Given the description of an element on the screen output the (x, y) to click on. 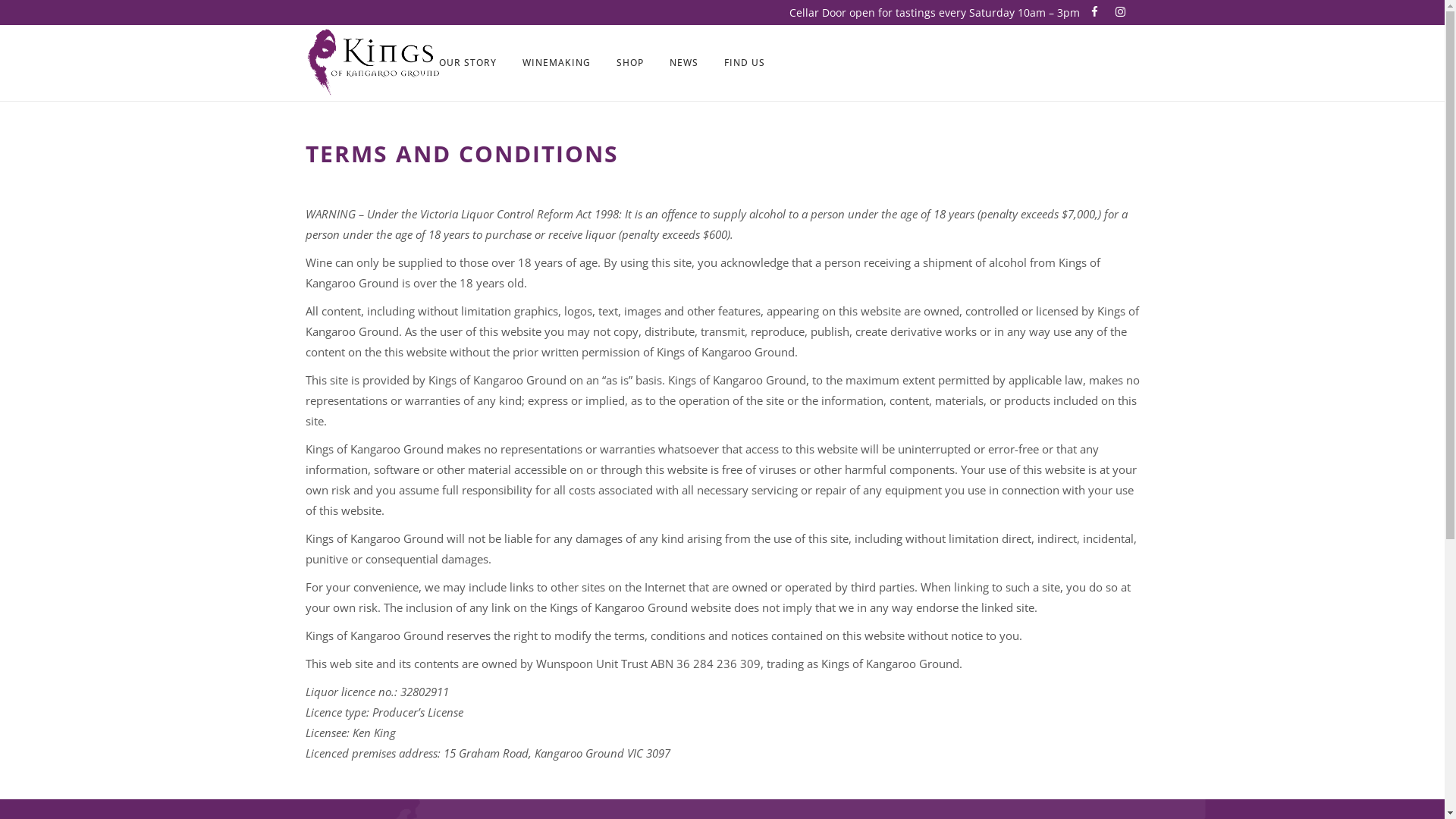
OUR STORY Element type: text (467, 62)
SHOP Element type: text (629, 62)
FIND US Element type: text (744, 62)
WINEMAKING Element type: text (556, 62)
NEWS Element type: text (683, 62)
